Given the description of an element on the screen output the (x, y) to click on. 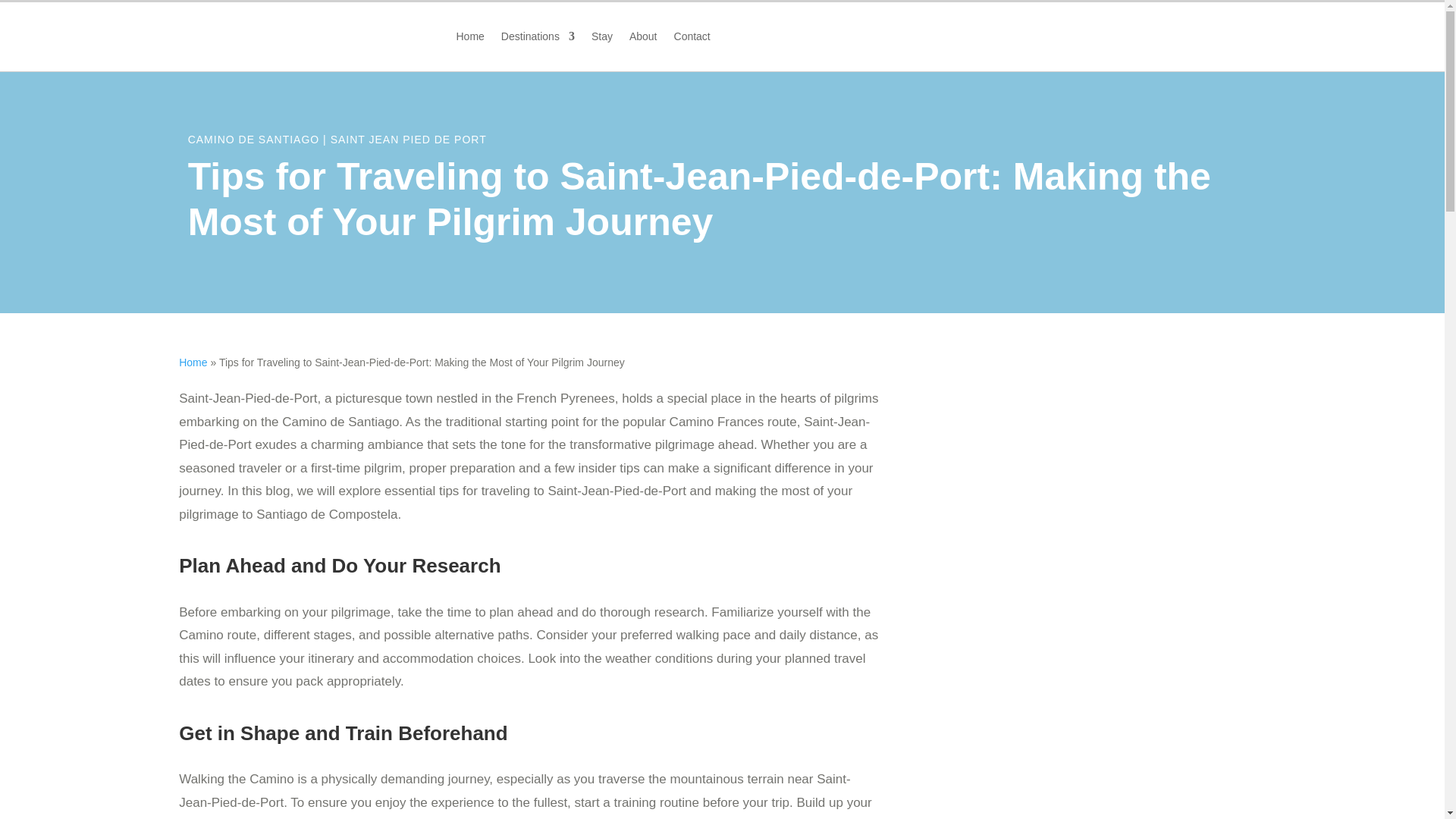
Destinations (537, 39)
Home (470, 39)
About (643, 39)
CAMINO DE SANTIAGO (253, 139)
SAINT JEAN PIED DE PORT (408, 139)
Contact (692, 39)
Home (192, 362)
Stay (601, 39)
